Given the description of an element on the screen output the (x, y) to click on. 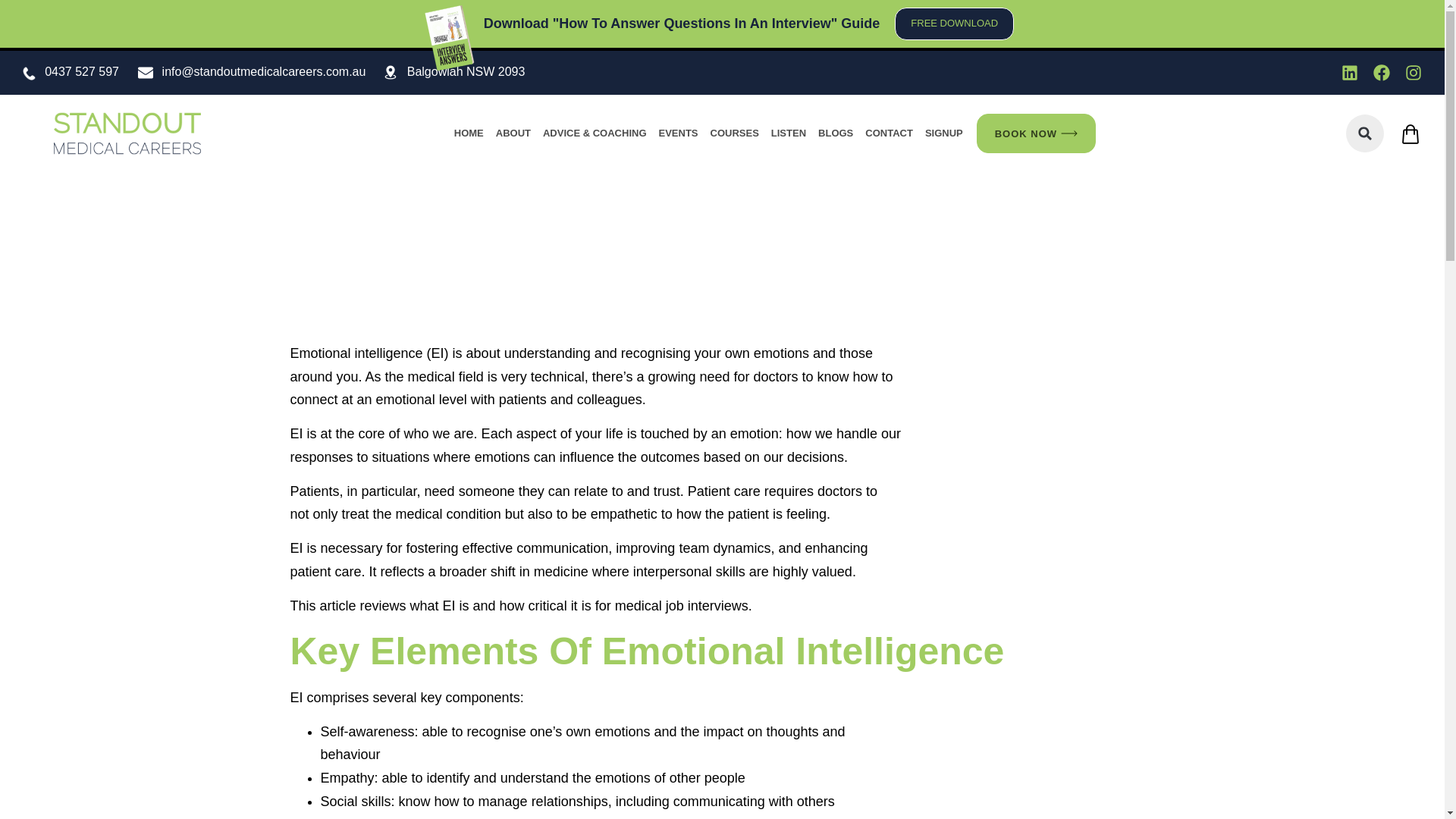
BLOGS (835, 133)
COURSES (734, 133)
BOOK NOW (1036, 133)
Balgowlah NSW 2093 (466, 71)
shopping-bag (1410, 133)
CONTACT (888, 133)
ABOUT (513, 133)
FREE DOWNLOAD (954, 23)
0437 527 597 (82, 71)
HOME (468, 133)
